Given the description of an element on the screen output the (x, y) to click on. 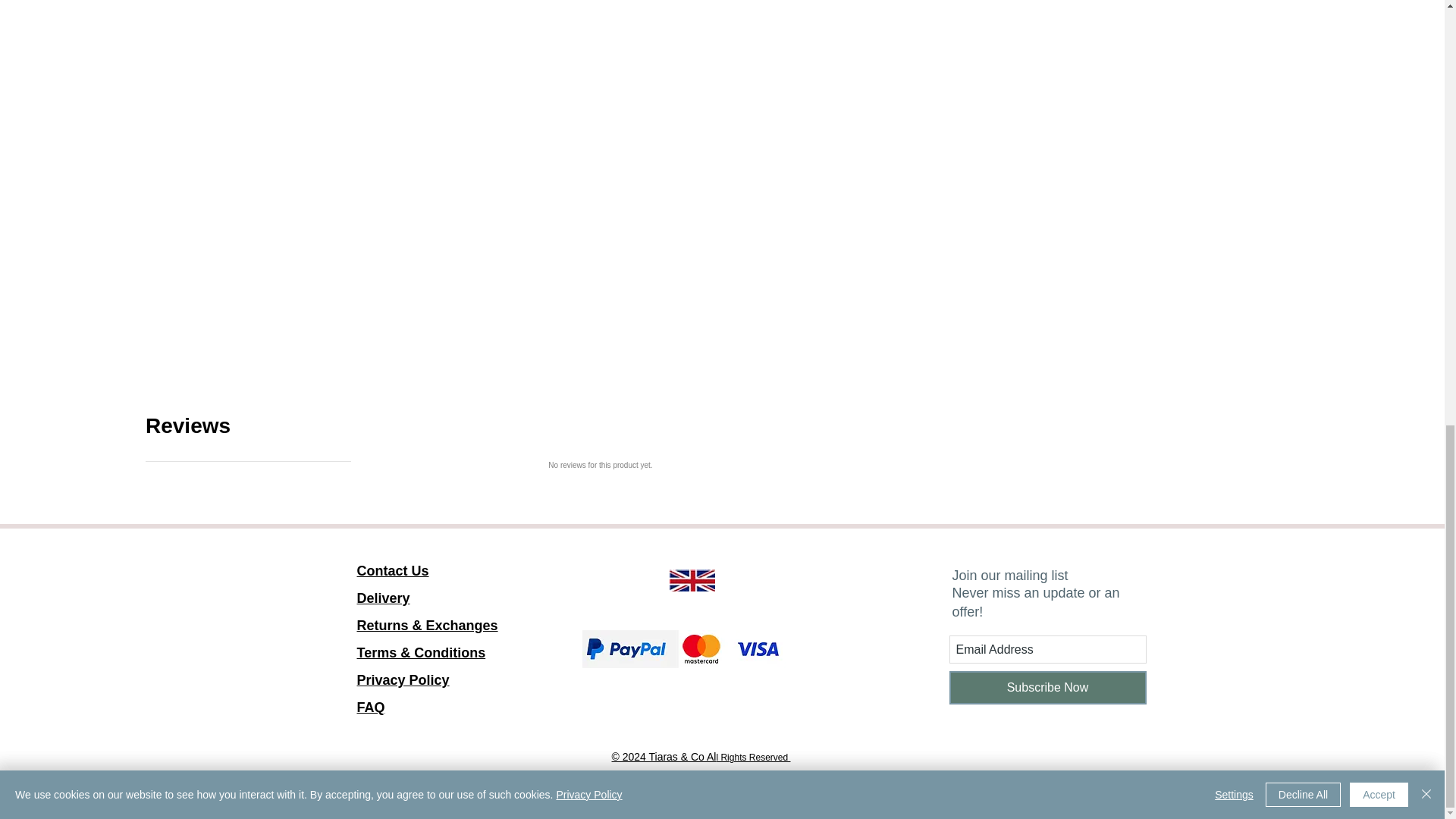
Subscribe Now (1048, 687)
F (691, 580)
Delivery (382, 598)
Contact Us (402, 693)
